Given the description of an element on the screen output the (x, y) to click on. 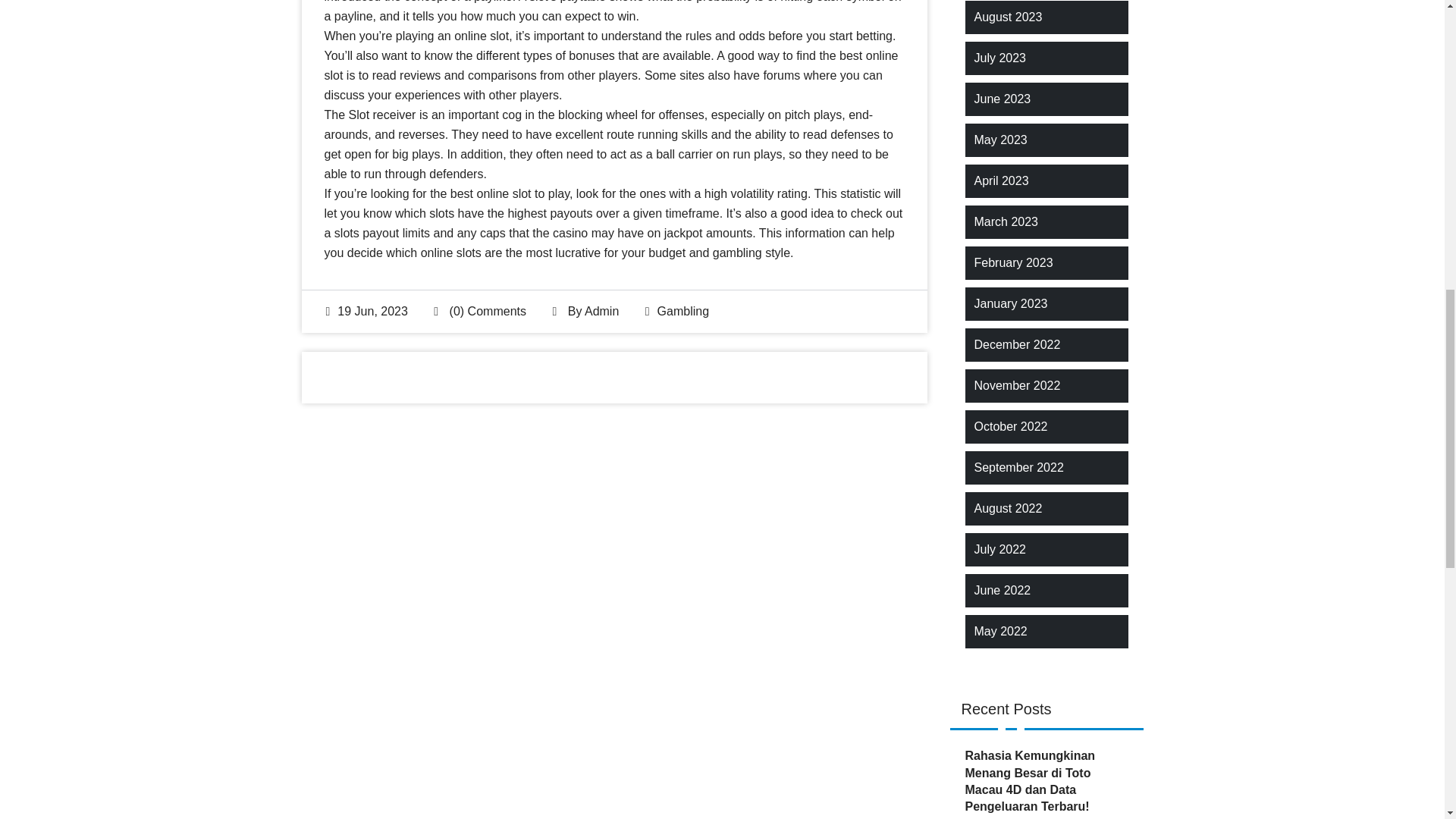
September 2022 (1018, 467)
November 2022 (1016, 385)
October 2022 (1010, 426)
December 2022 (1016, 344)
April 2023 (1000, 180)
March 2023 (1006, 221)
Admin (601, 310)
May 2023 (1000, 140)
May 2022 (1000, 631)
July 2023 (1000, 58)
Gambling (683, 310)
June 2023 (1002, 99)
June 2022 (1002, 590)
July 2022 (1000, 549)
August 2022 (1008, 508)
